Given the description of an element on the screen output the (x, y) to click on. 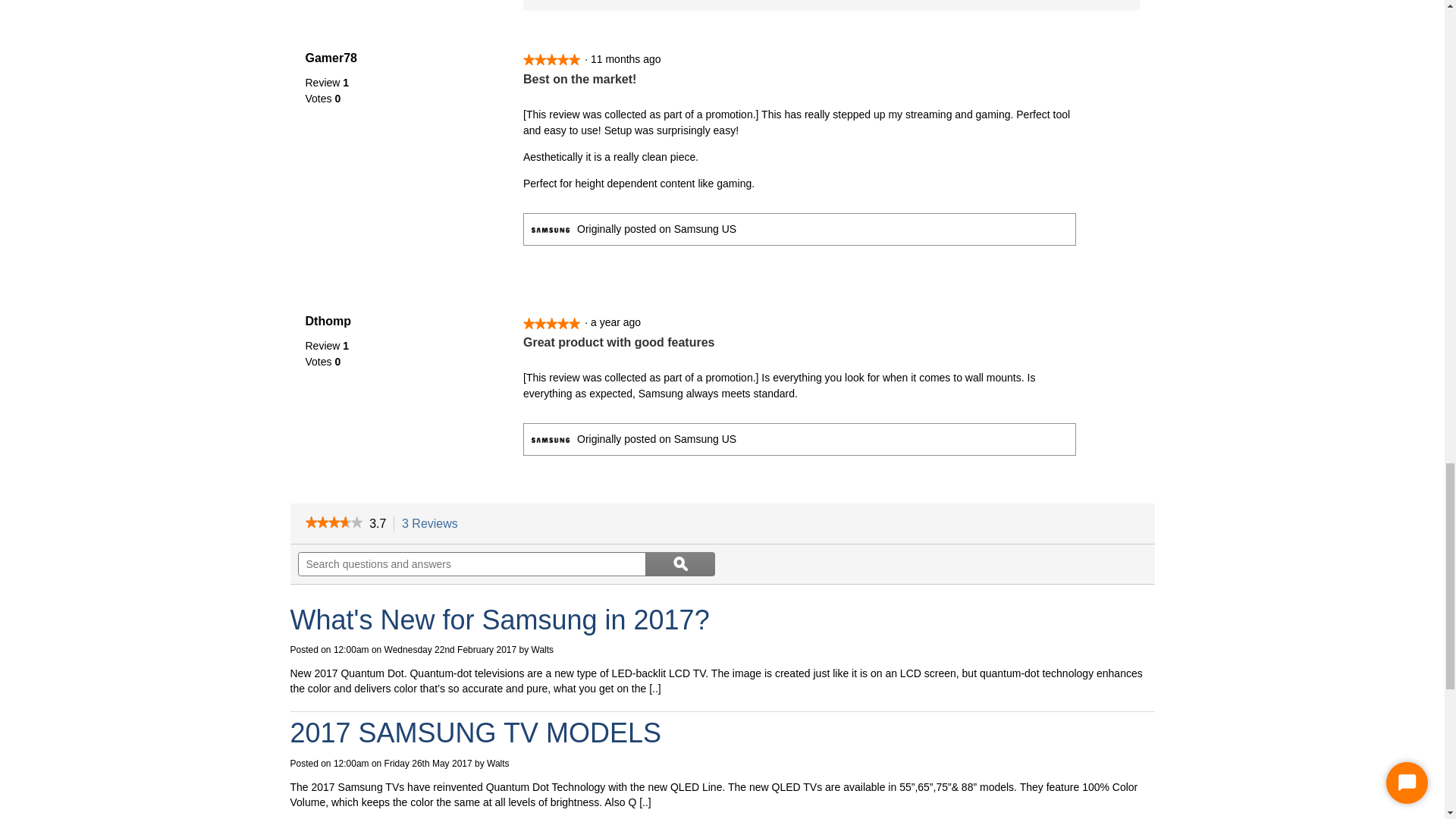
5 out of 5 stars. (550, 323)
5 out of 5 stars. (550, 59)
Read 3 Reviews (332, 523)
